Given the description of an element on the screen output the (x, y) to click on. 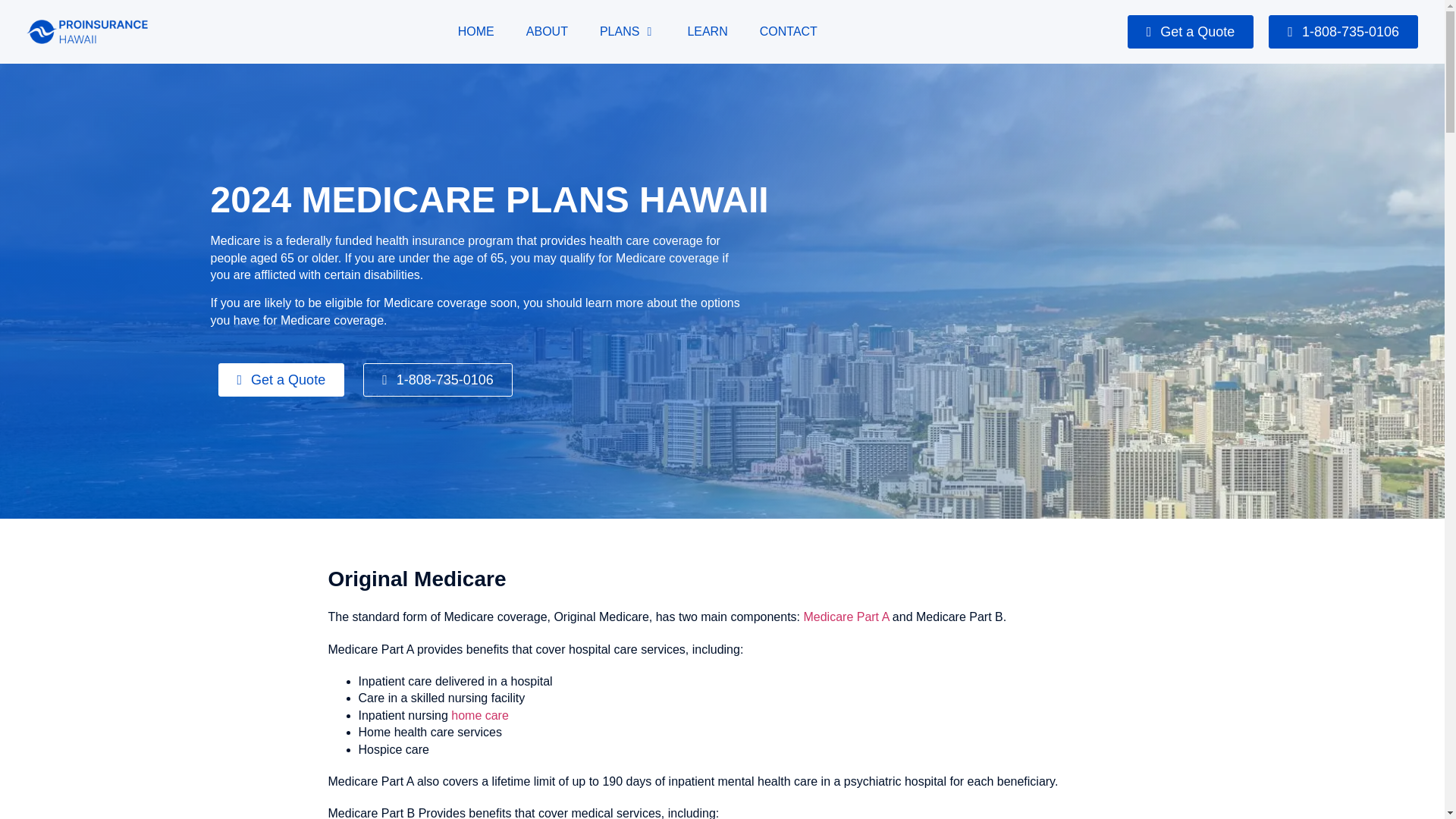
LEARN (706, 31)
ABOUT (546, 31)
Get a Quote (1189, 31)
CONTACT (788, 31)
1-808-735-0106 (1343, 31)
PLANS (619, 31)
HOME (476, 31)
